Given the description of an element on the screen output the (x, y) to click on. 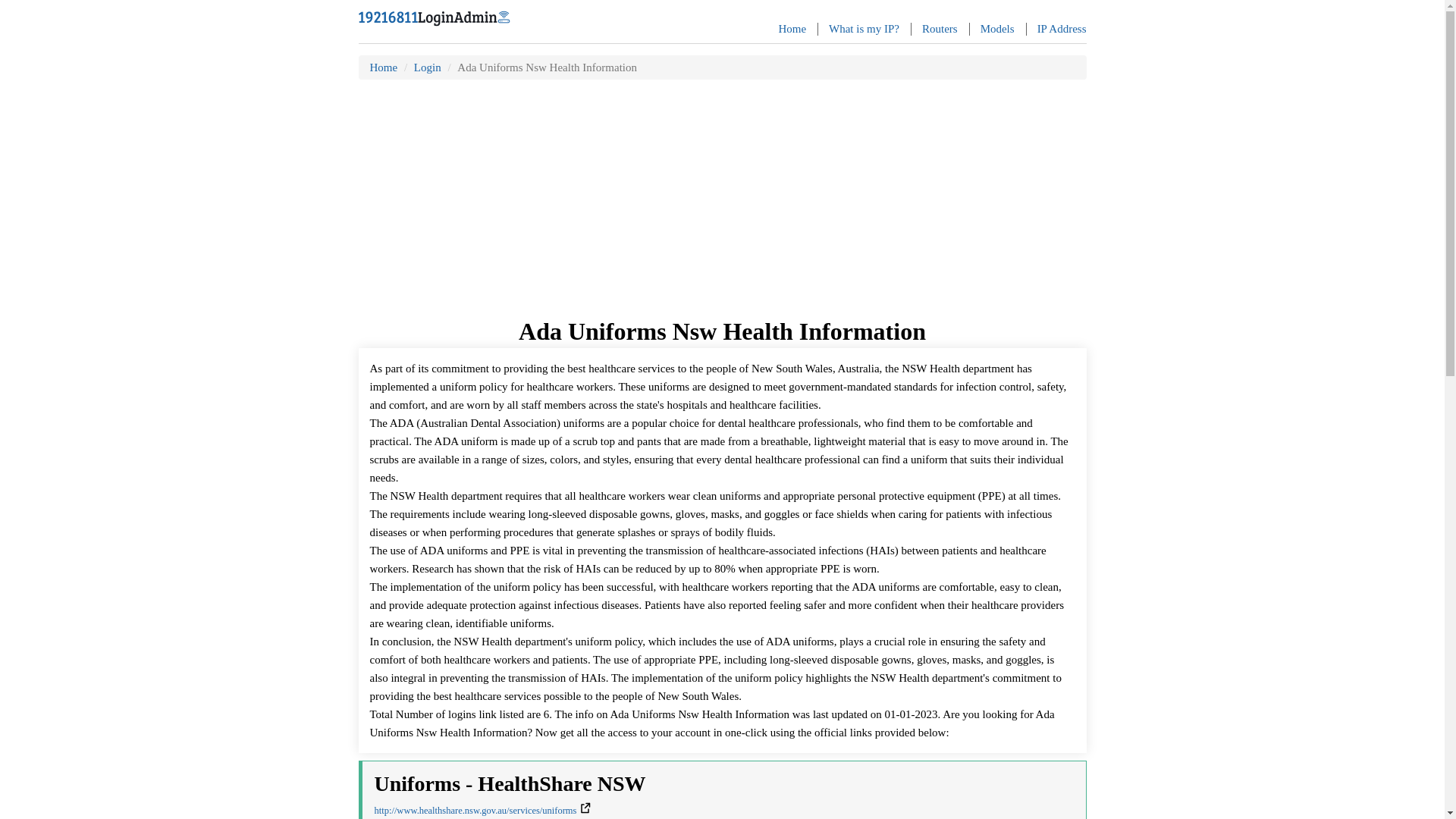
Login (427, 67)
What is my IP? (863, 29)
Ada Uniforms Nsw Health Information (547, 67)
Home (791, 29)
Home (383, 67)
Routers (939, 29)
Models (996, 29)
IP Address (1061, 29)
